Given the description of an element on the screen output the (x, y) to click on. 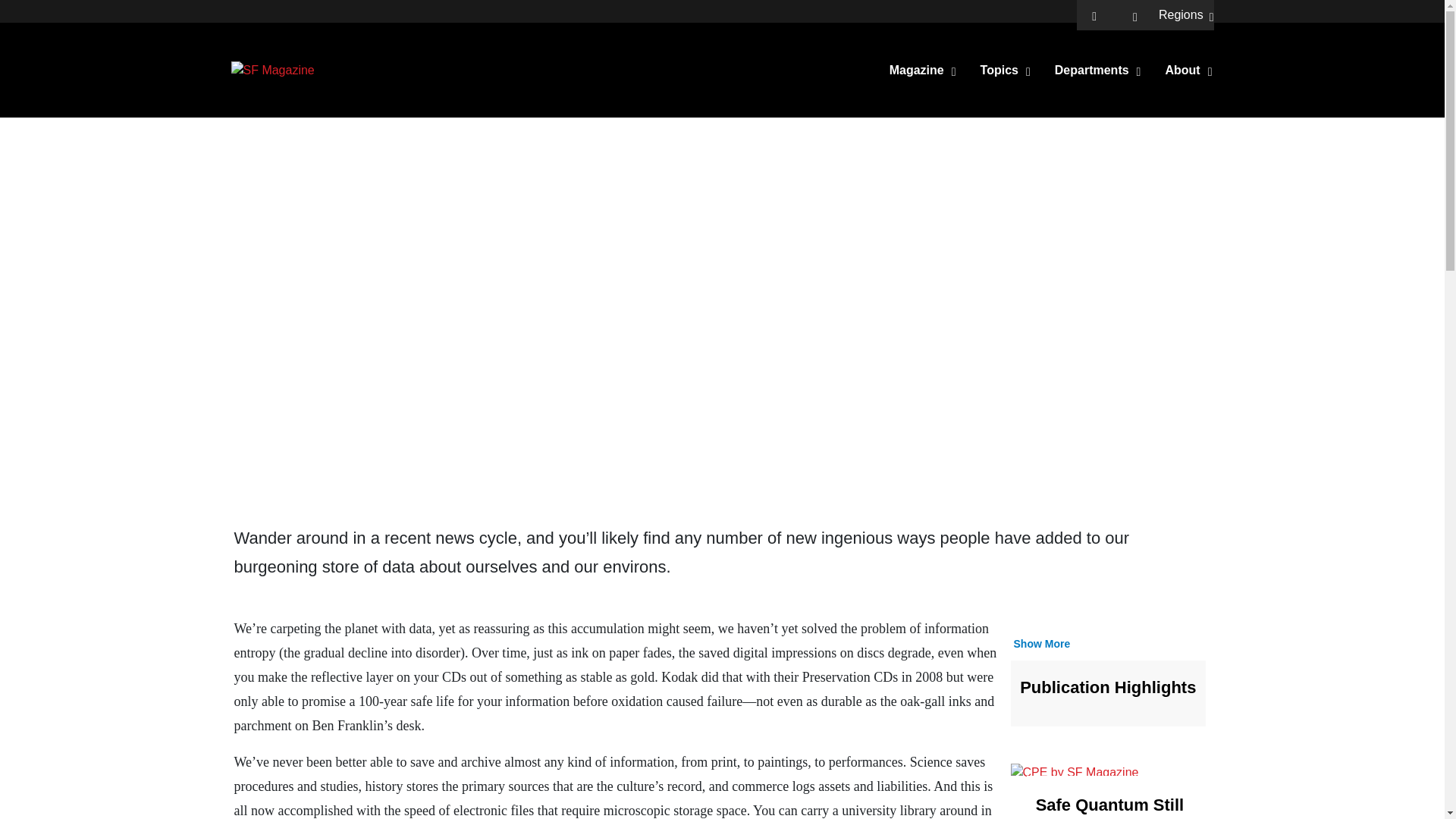
Regions (1186, 15)
Topics (1004, 69)
Departments (1097, 69)
Magazine (922, 69)
